Given the description of an element on the screen output the (x, y) to click on. 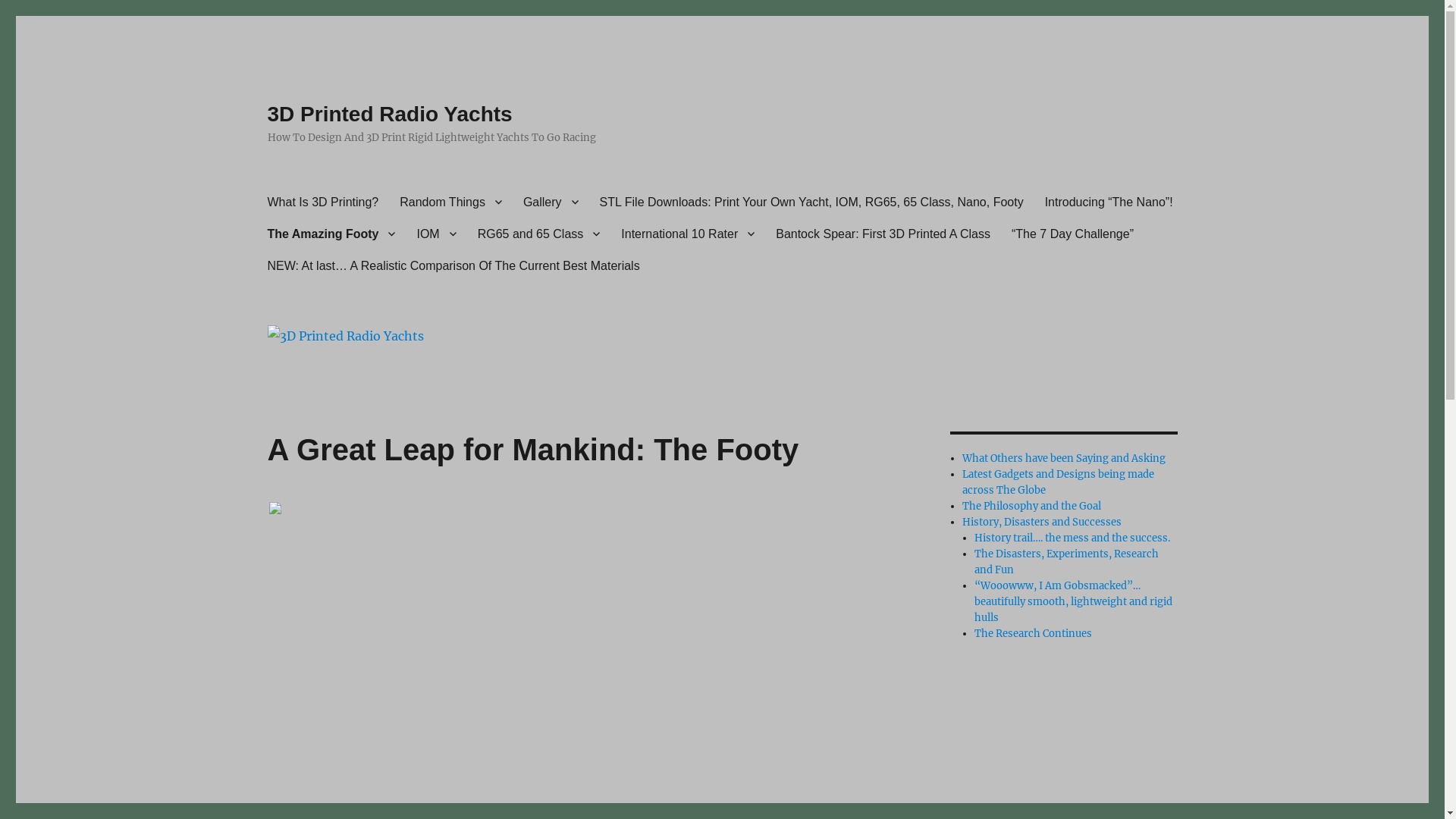
The Disasters, Experiments, Research and Fun Element type: text (1066, 561)
Latest Gadgets and Designs being made across The Globe Element type: text (1058, 481)
History, Disasters and Successes Element type: text (1041, 521)
RG65 and 65 Class Element type: text (539, 233)
Bantock Spear: First 3D Printed A Class Element type: text (883, 233)
Random Things Element type: text (450, 201)
What Is 3D Printing? Element type: text (322, 201)
What Others have been Saying and Asking Element type: text (1063, 457)
3D Printed Radio Yachts Element type: text (388, 113)
International 10 Rater Element type: text (687, 233)
IOM Element type: text (435, 233)
The Amazing Footy Element type: text (330, 233)
The Philosophy and the Goal Element type: text (1031, 505)
The Research Continues Element type: text (1033, 633)
Gallery Element type: text (550, 201)
